Given the description of an element on the screen output the (x, y) to click on. 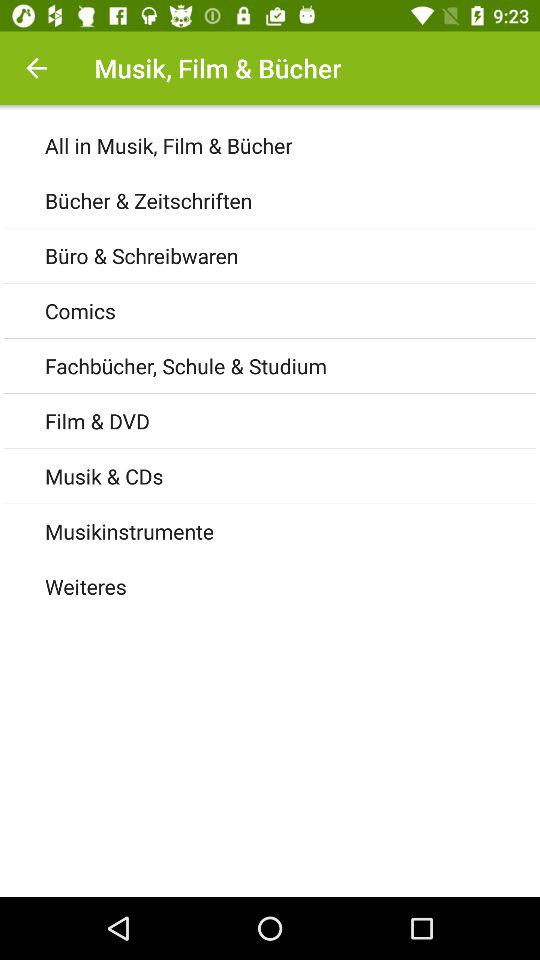
go to previous (36, 68)
